Given the description of an element on the screen output the (x, y) to click on. 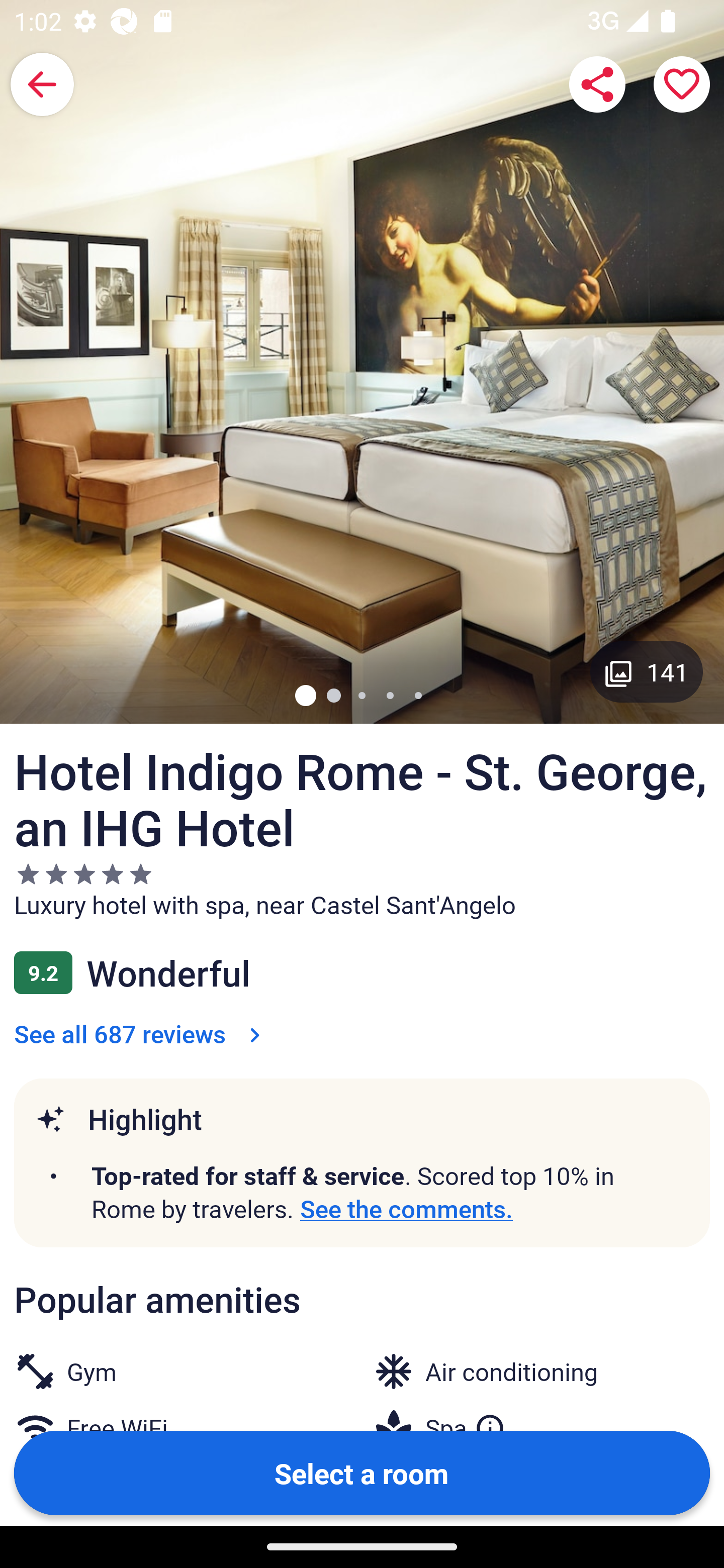
Back (42, 84)
Save property to a trip (681, 84)
Share Hotel Indigo Rome - St. George, an IHG Hotel (597, 84)
Gallery button with 141 images (646, 671)
See all 687 reviews See all 687 reviews Link (140, 1032)
Select a room Button Select a room (361, 1472)
